Given the description of an element on the screen output the (x, y) to click on. 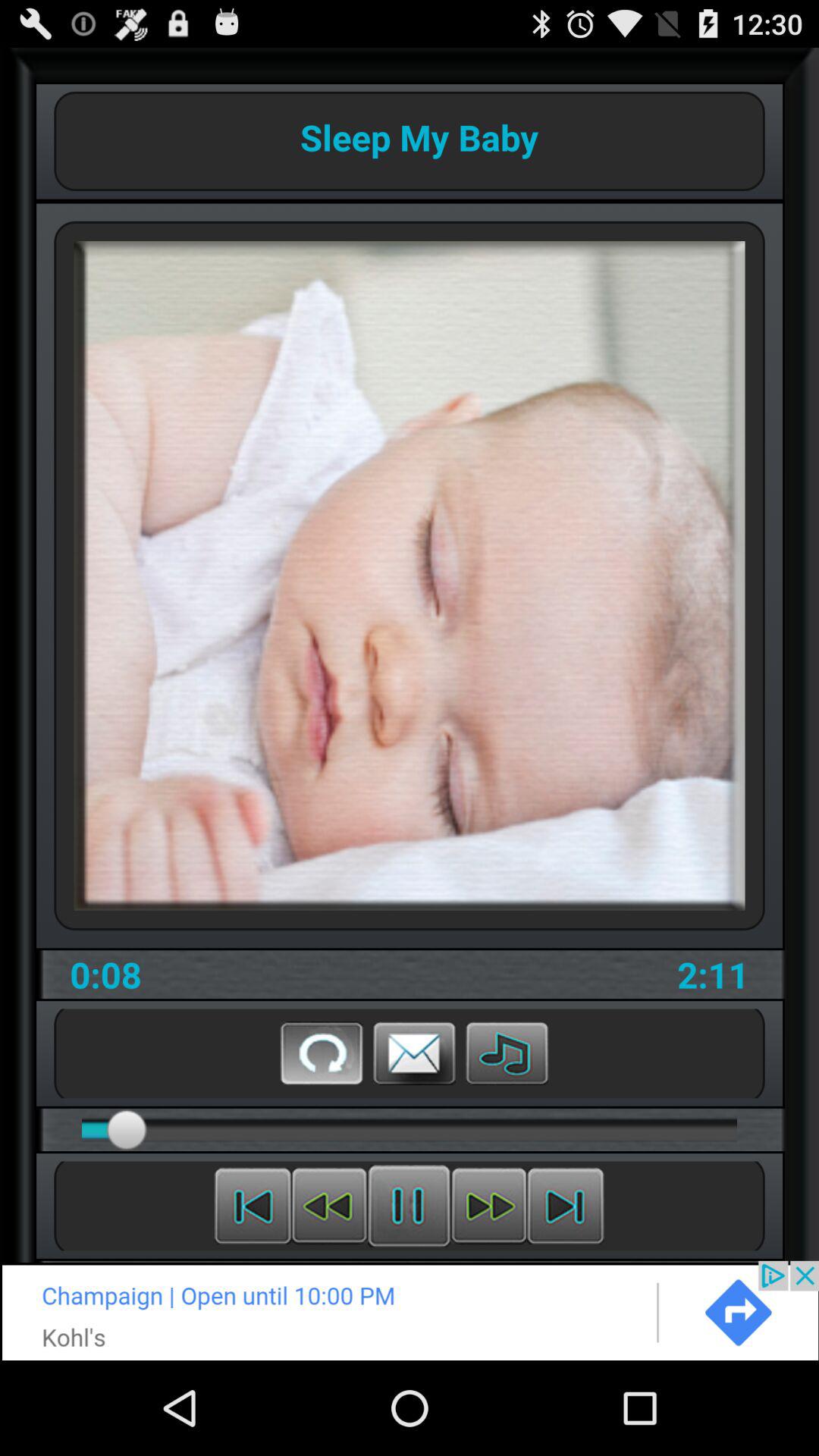
comment box (414, 1053)
